Given the description of an element on the screen output the (x, y) to click on. 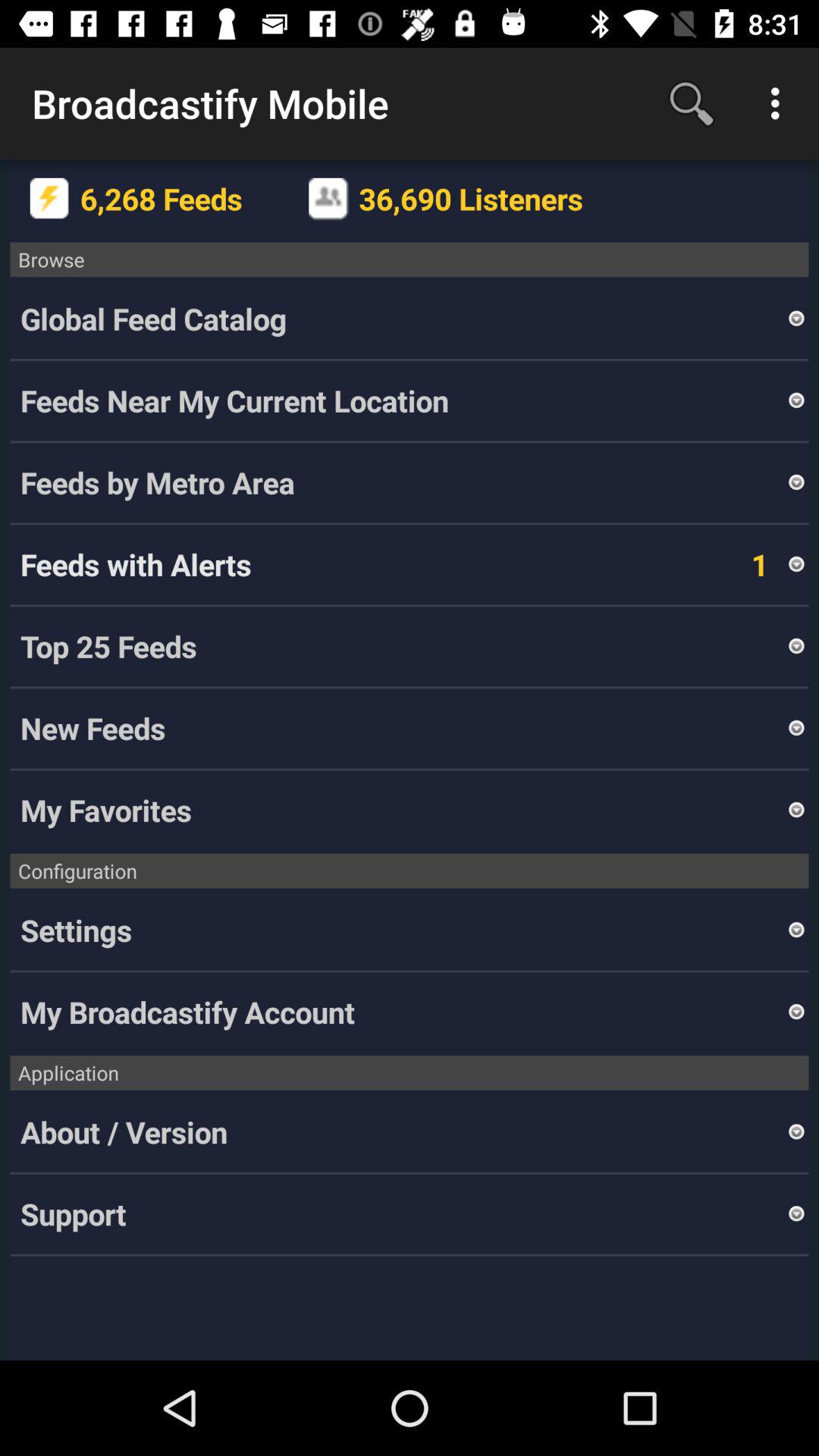
turn off item above browse item (779, 103)
